Given the description of an element on the screen output the (x, y) to click on. 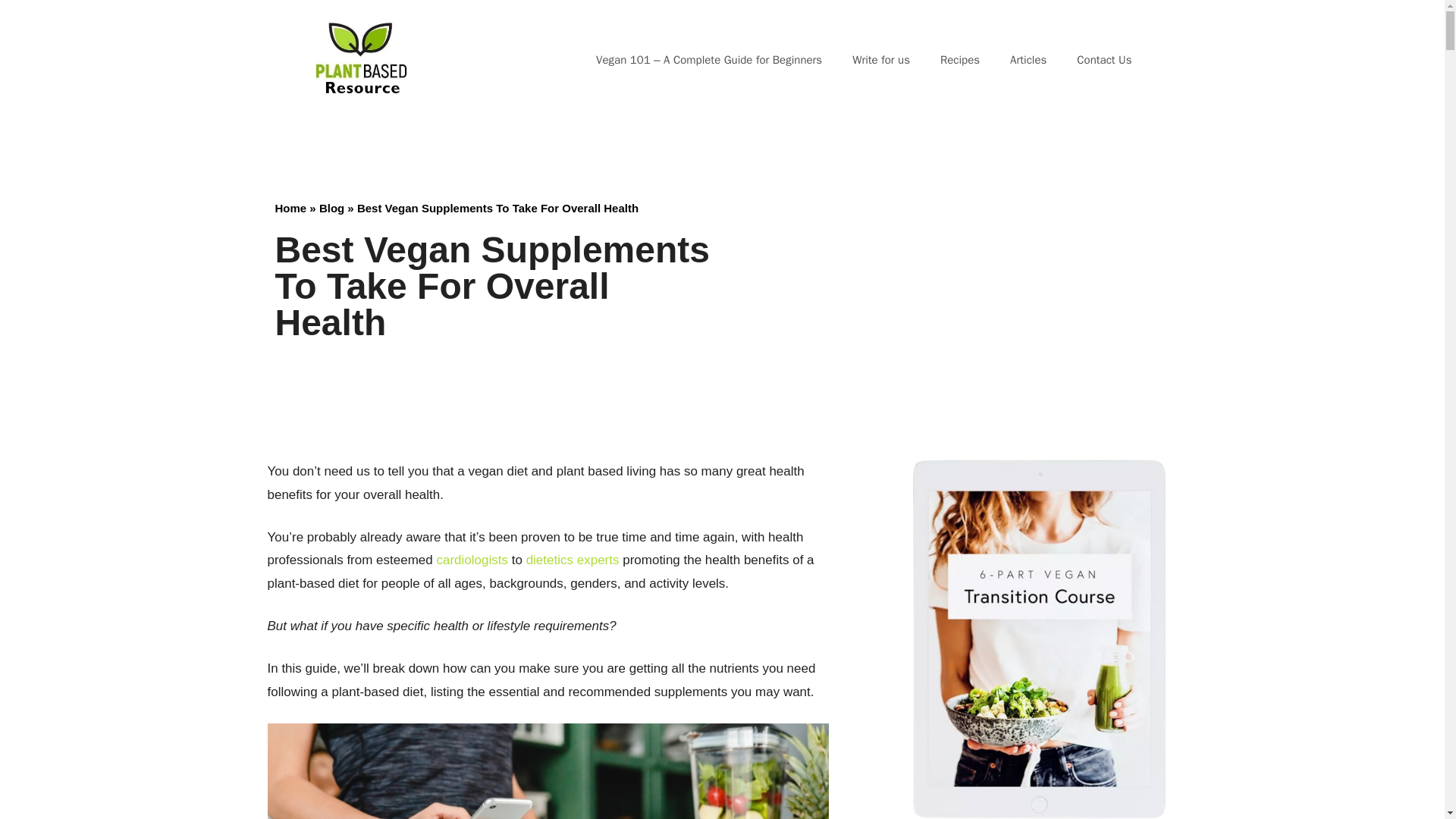
 dietetics experts (571, 559)
Articles (1027, 58)
Write for us (880, 58)
Recipes (959, 58)
Home (290, 207)
cardiologists (472, 559)
Contact Us (1104, 58)
Blog (330, 207)
